Given the description of an element on the screen output the (x, y) to click on. 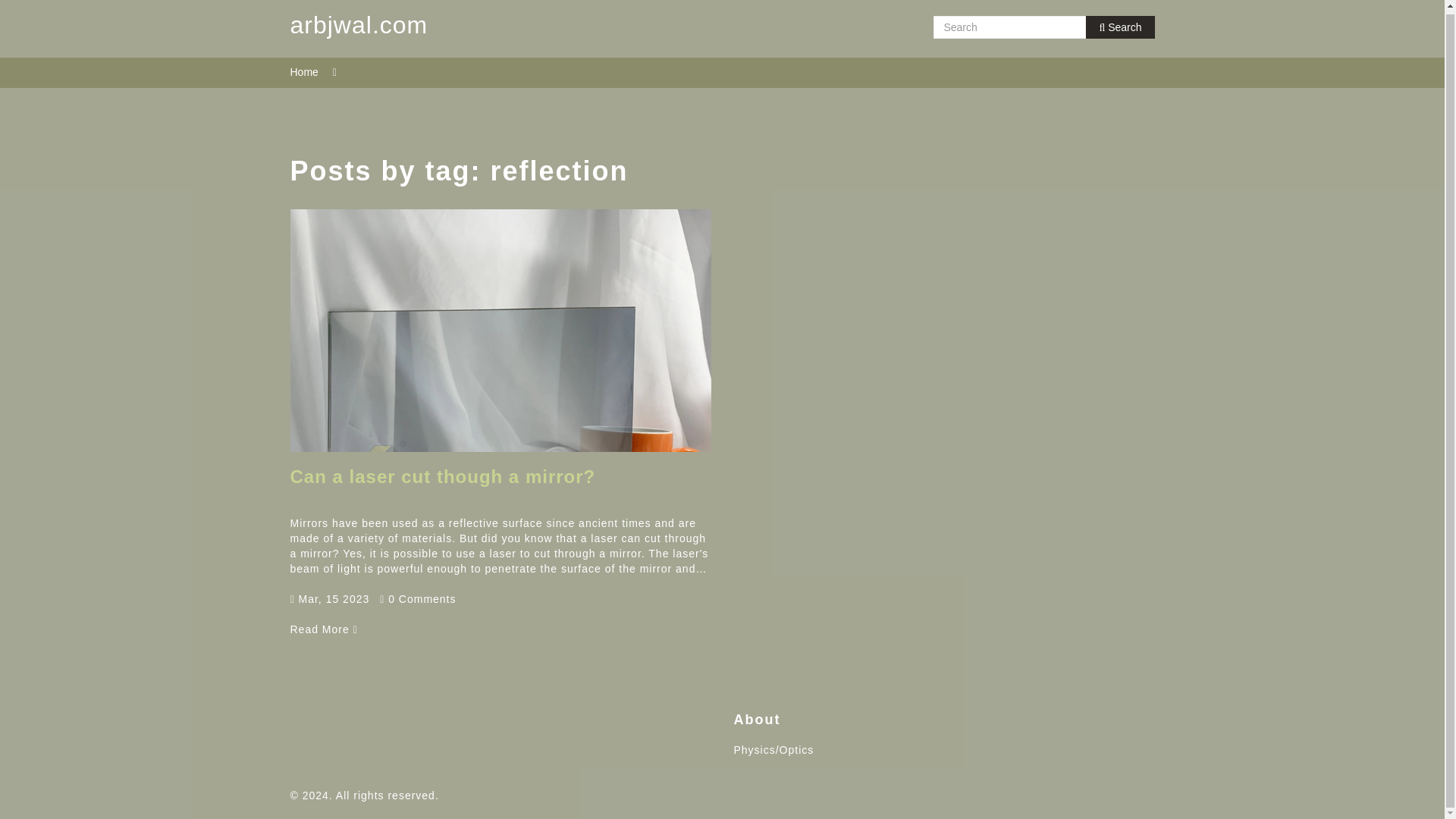
Read More (322, 629)
Search (1120, 26)
Can a laser cut though a mirror? (322, 629)
arbjwal.com (358, 26)
Can a laser cut though a mirror? (442, 476)
